Given the description of an element on the screen output the (x, y) to click on. 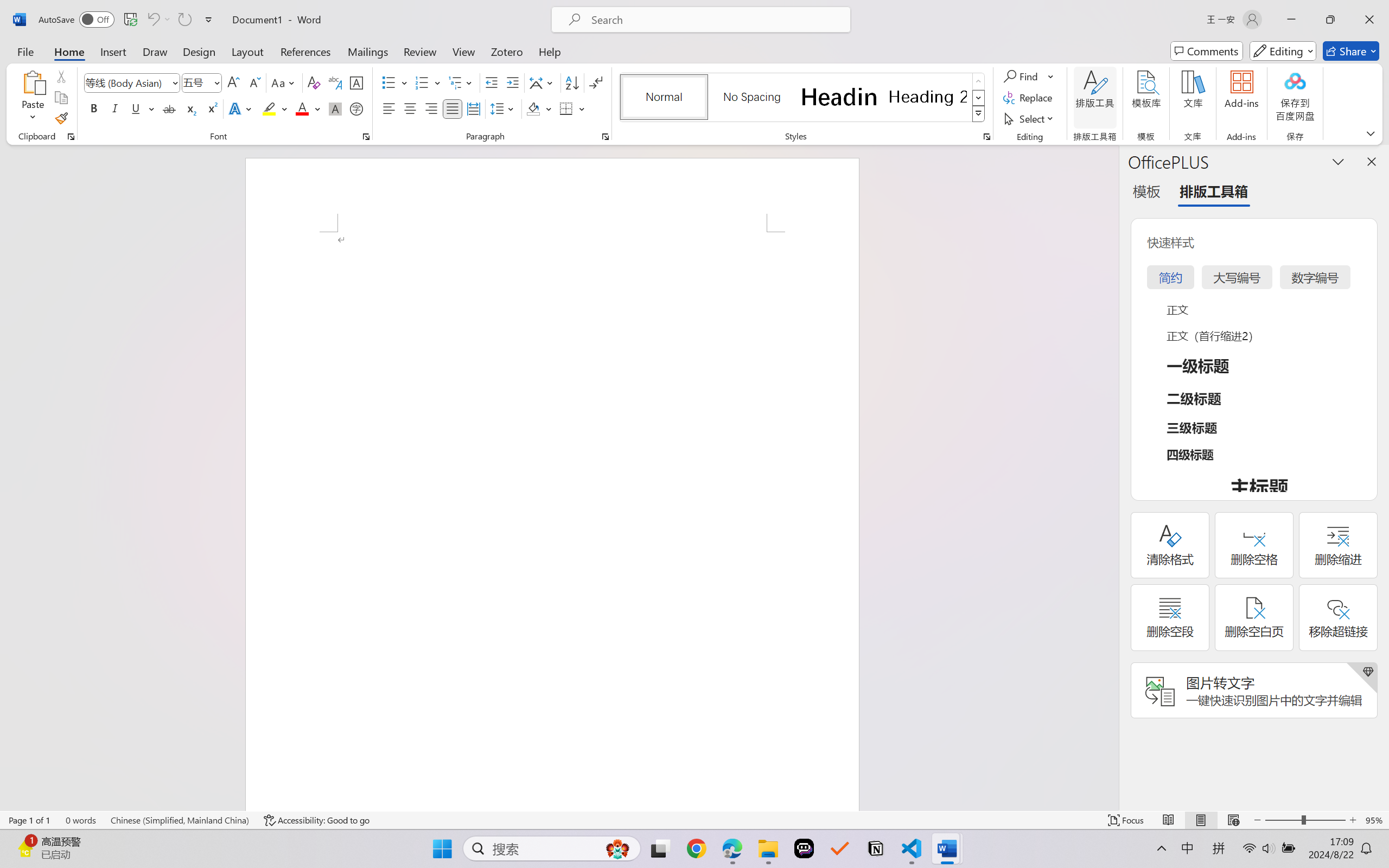
Page 1 content (552, 521)
